Given the description of an element on the screen output the (x, y) to click on. 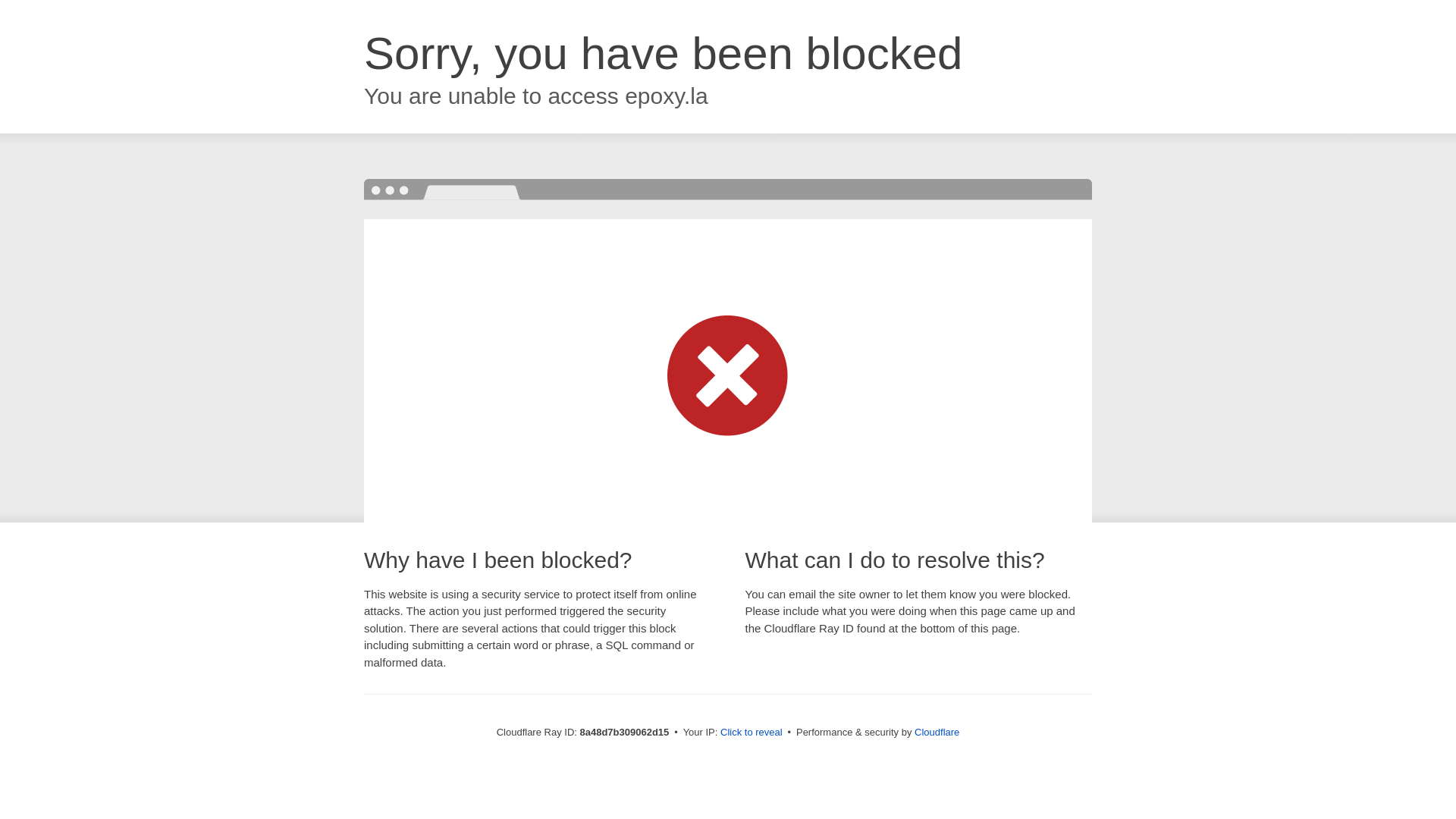
Click to reveal (751, 732)
Cloudflare (936, 731)
